Given the description of an element on the screen output the (x, y) to click on. 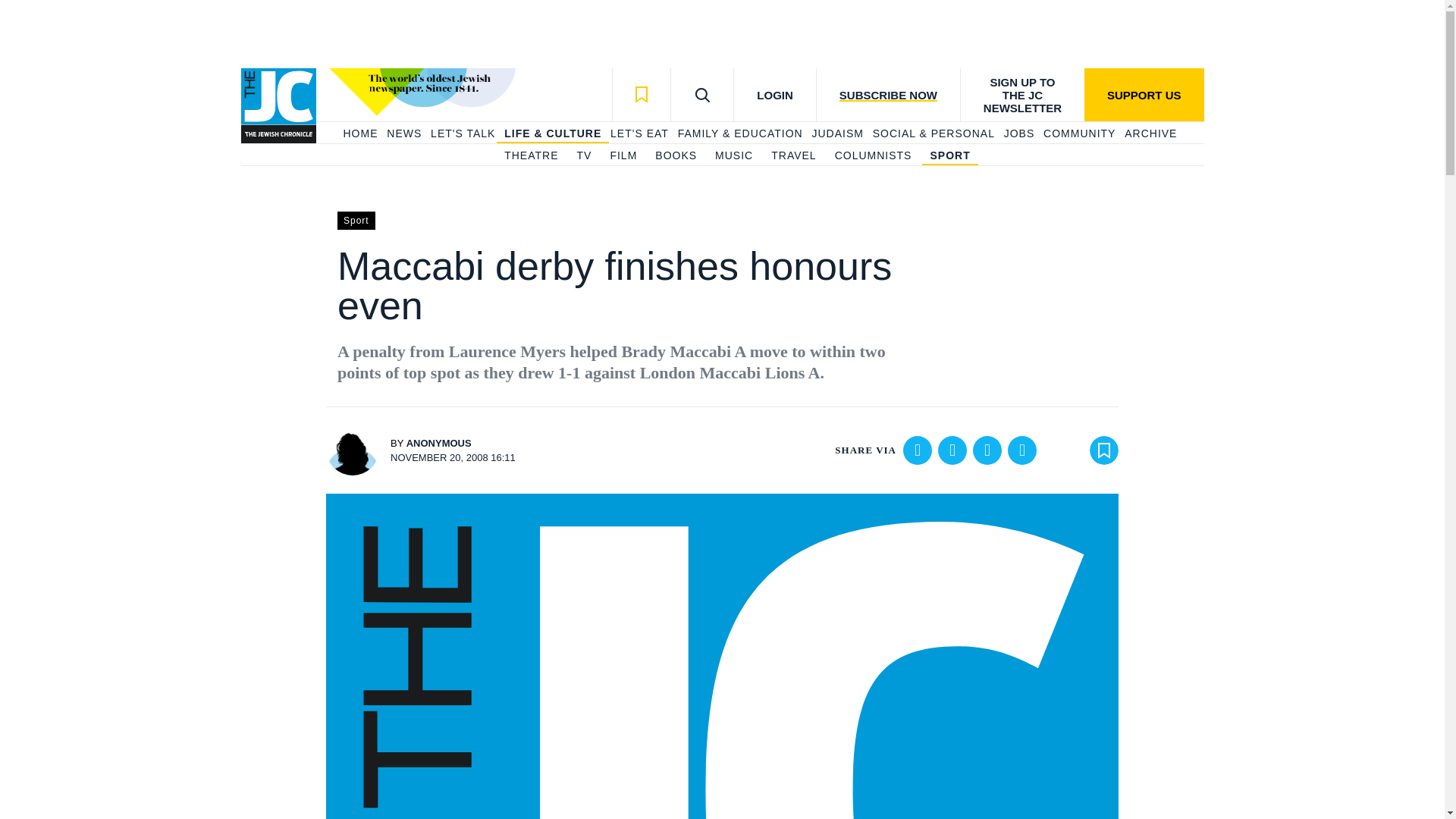
SPORT (949, 155)
TRAVEL (793, 155)
LET'S EAT (639, 133)
SUPPORT US (1144, 94)
HOME (359, 133)
THEATRE (530, 155)
SIGN UP TO THE JC NEWSLETTER (1021, 94)
JOBS (1019, 133)
LOGIN (774, 94)
TV (584, 155)
